Given the description of an element on the screen output the (x, y) to click on. 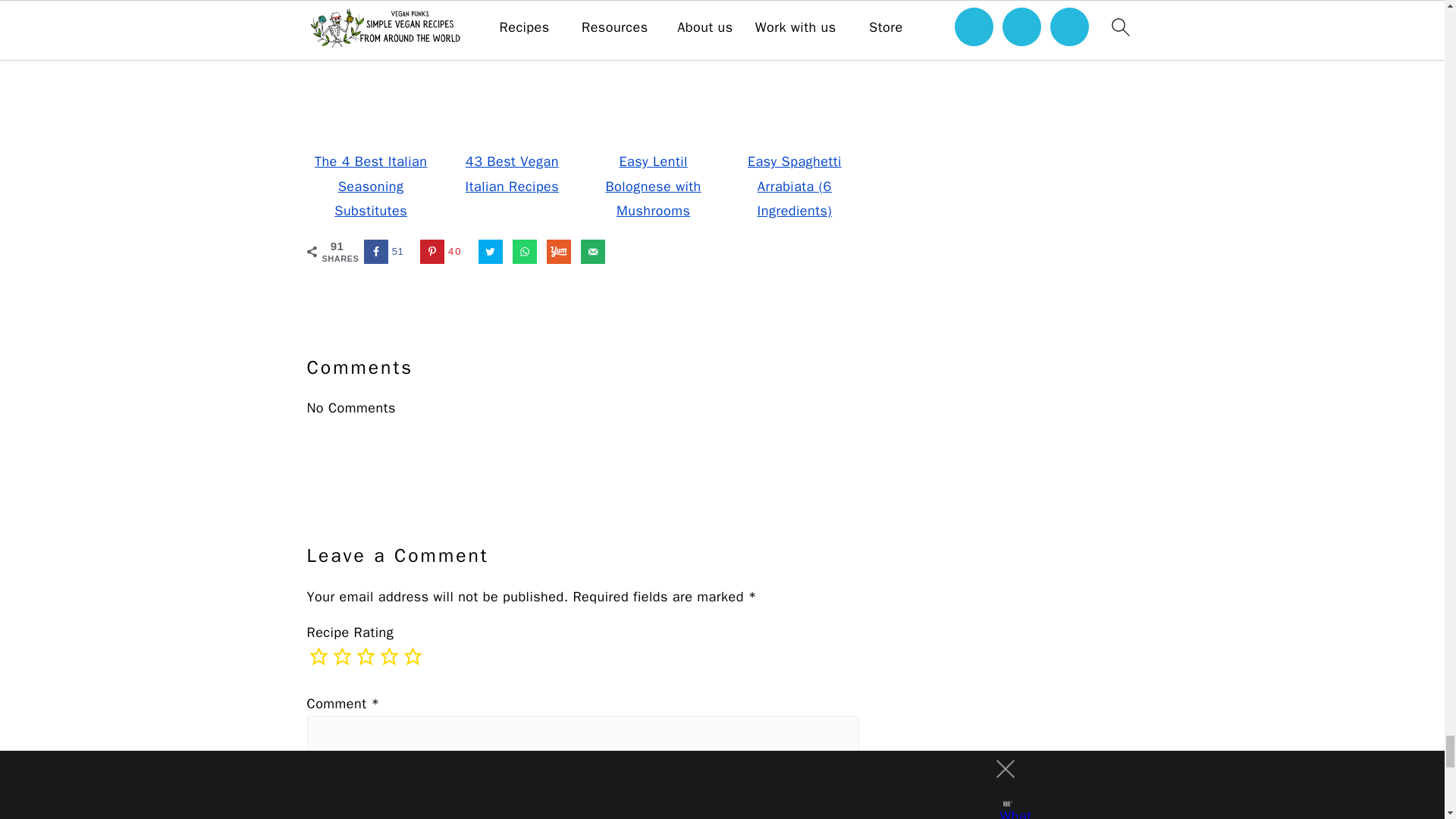
Share on Twitter (490, 251)
Share on Facebook (387, 251)
Share on Yummly (558, 251)
Save to Pinterest (444, 251)
Share on WhatsApp (524, 251)
